Given the description of an element on the screen output the (x, y) to click on. 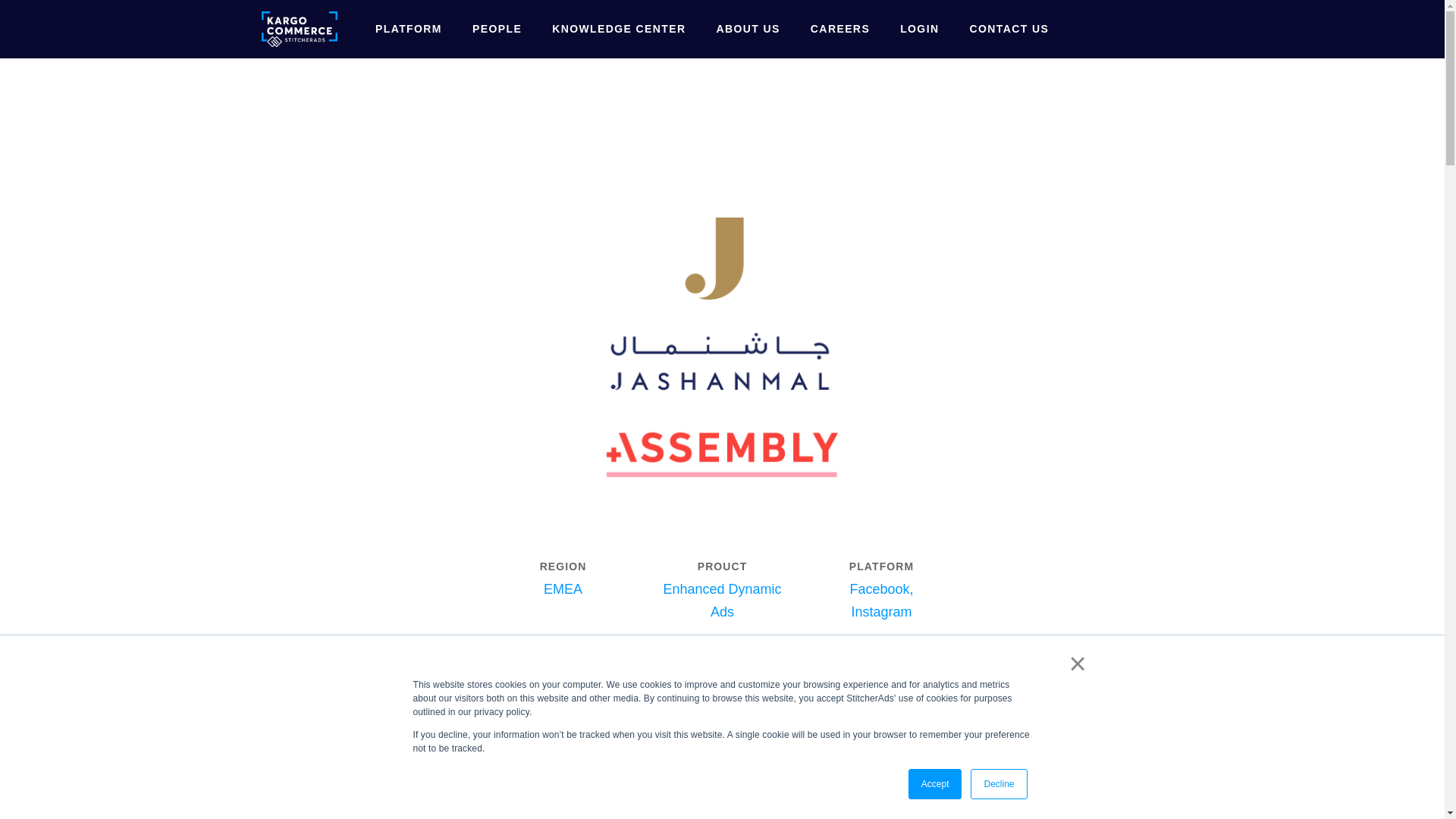
Decline (998, 784)
PLATFORM (408, 29)
Accept (935, 784)
LOGIN (919, 29)
ABOUT US (748, 29)
PEOPLE (496, 29)
KNOWLEDGE CENTER (618, 29)
CAREERS (840, 29)
CONTACT US (1008, 29)
